Given the description of an element on the screen output the (x, y) to click on. 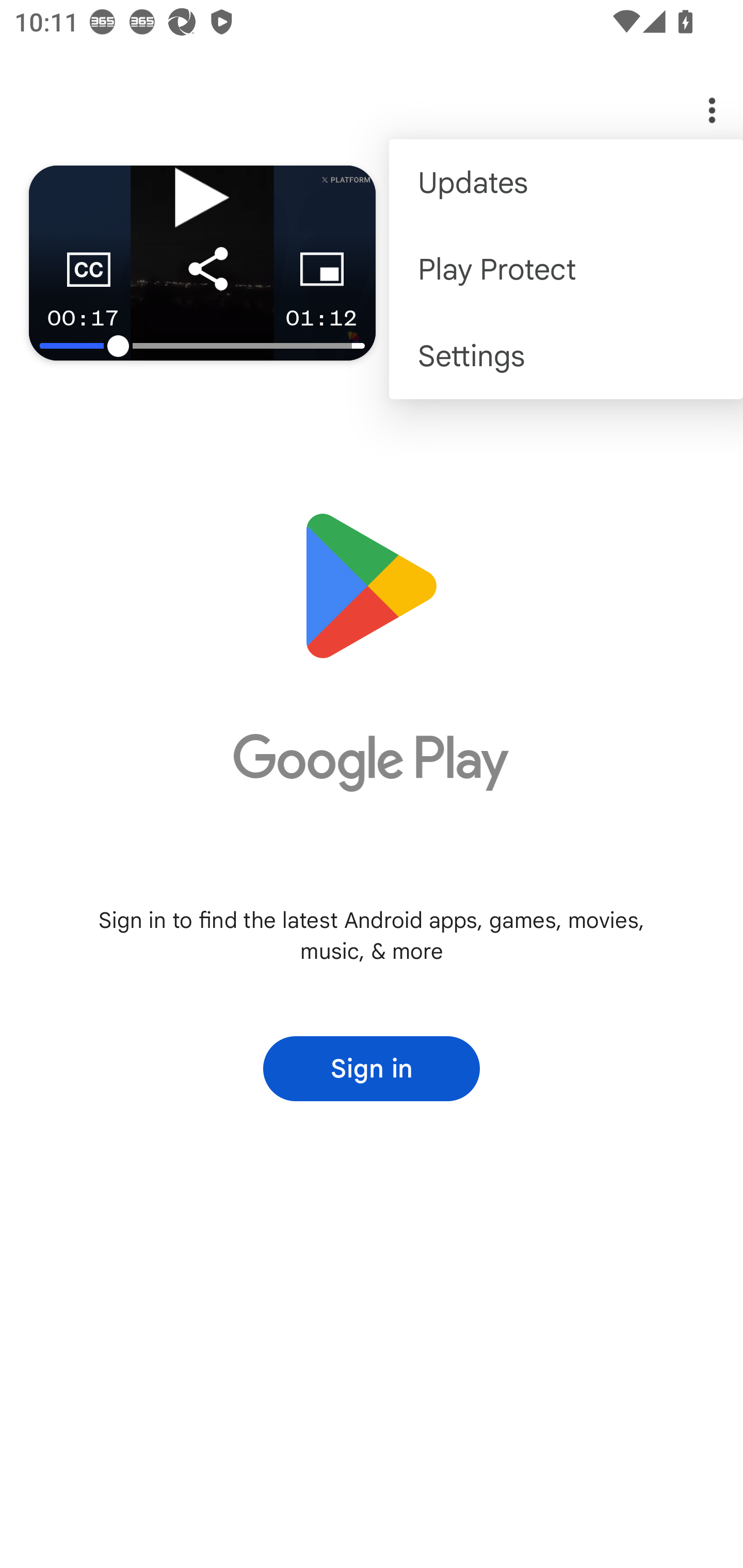
Updates (566, 182)
Play Protect (566, 268)
Settings (566, 355)
